Given the description of an element on the screen output the (x, y) to click on. 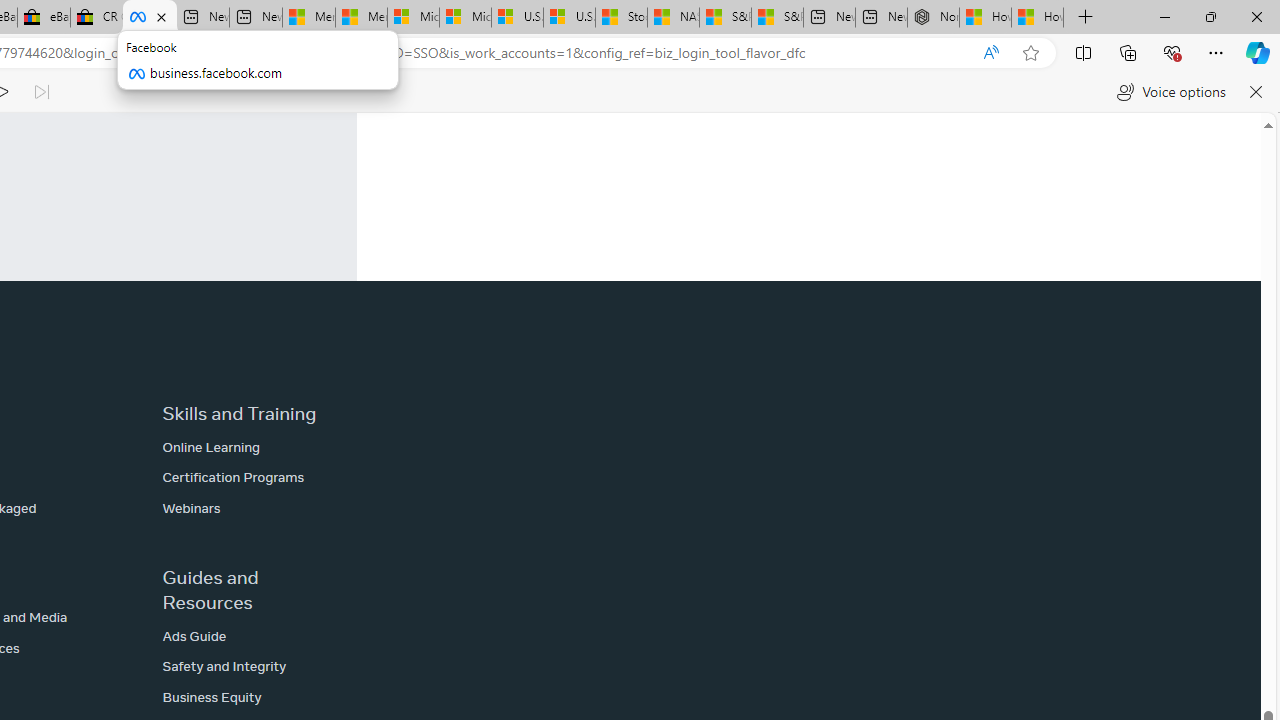
S&P 500, Nasdaq end lower, weighed by Nvidia dip | Watch (776, 17)
Voice options (1170, 92)
Ads Guide (194, 636)
Read next paragraph (40, 92)
